Given the description of an element on the screen output the (x, y) to click on. 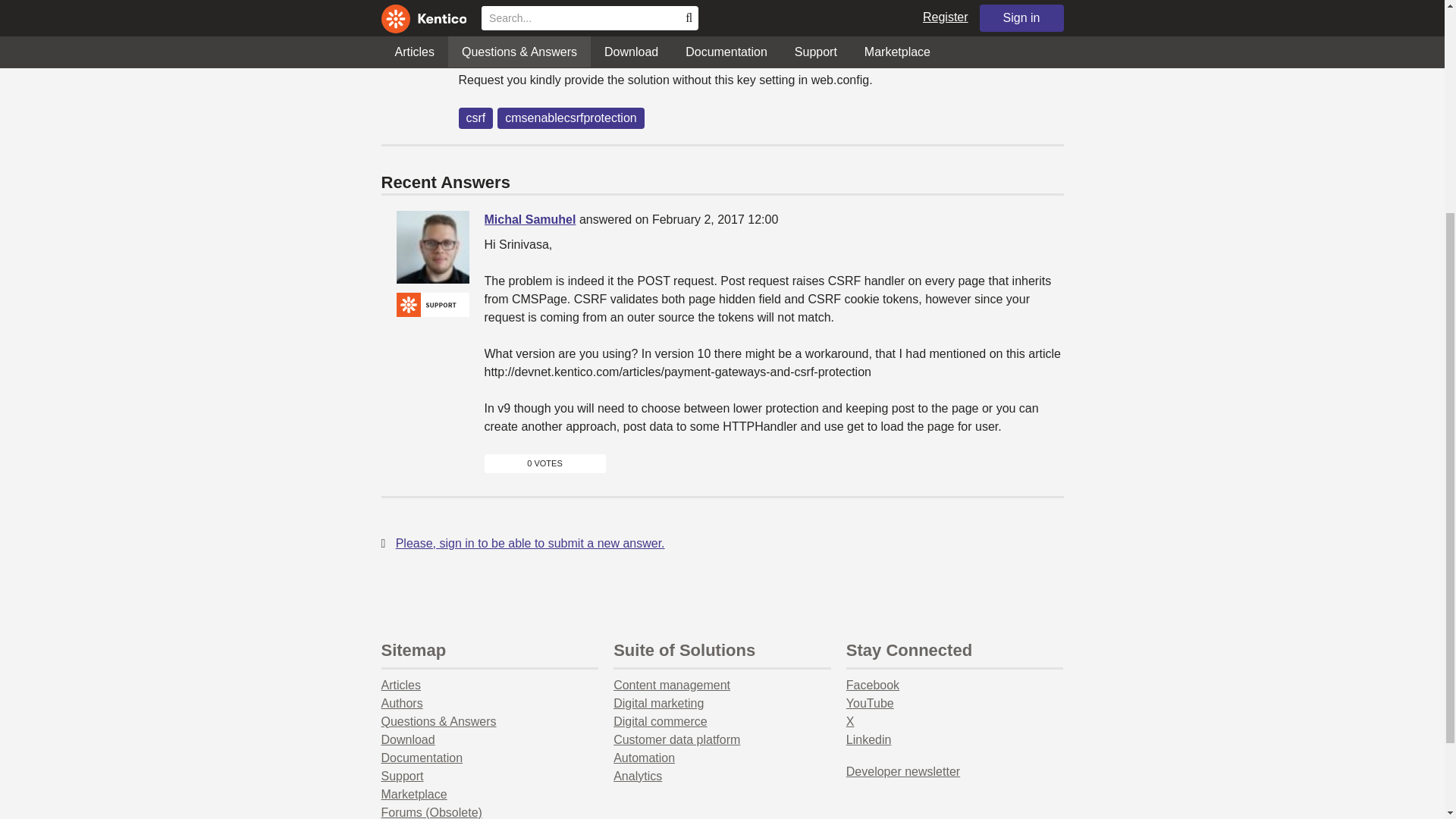
Digital marketing (657, 703)
Michal Samuhel (432, 246)
Analytics (637, 775)
Marketplace (413, 793)
csrf (475, 117)
YouTube (869, 703)
Developer newsletter (902, 771)
Authors (401, 703)
Download (406, 739)
Linkedin (868, 739)
Articles (400, 684)
Automation (643, 757)
cmsenablecsrfprotection (570, 117)
Digital commerce (659, 721)
Please, sign in to be able to submit a new answer. (530, 543)
